Given the description of an element on the screen output the (x, y) to click on. 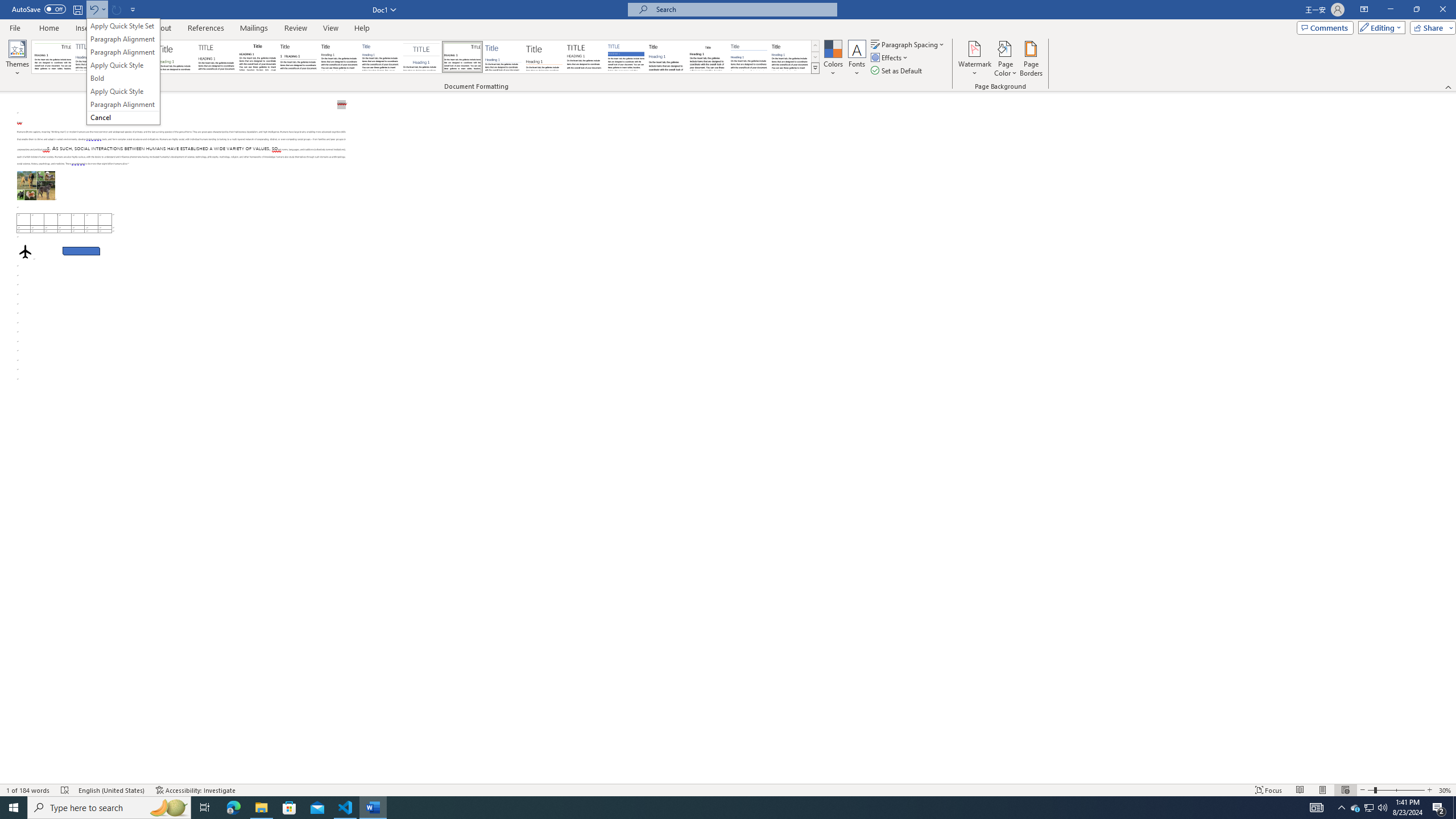
Casual (379, 56)
Word 2013 (790, 56)
Minimalist (584, 56)
Shaded (625, 56)
